Given the description of an element on the screen output the (x, y) to click on. 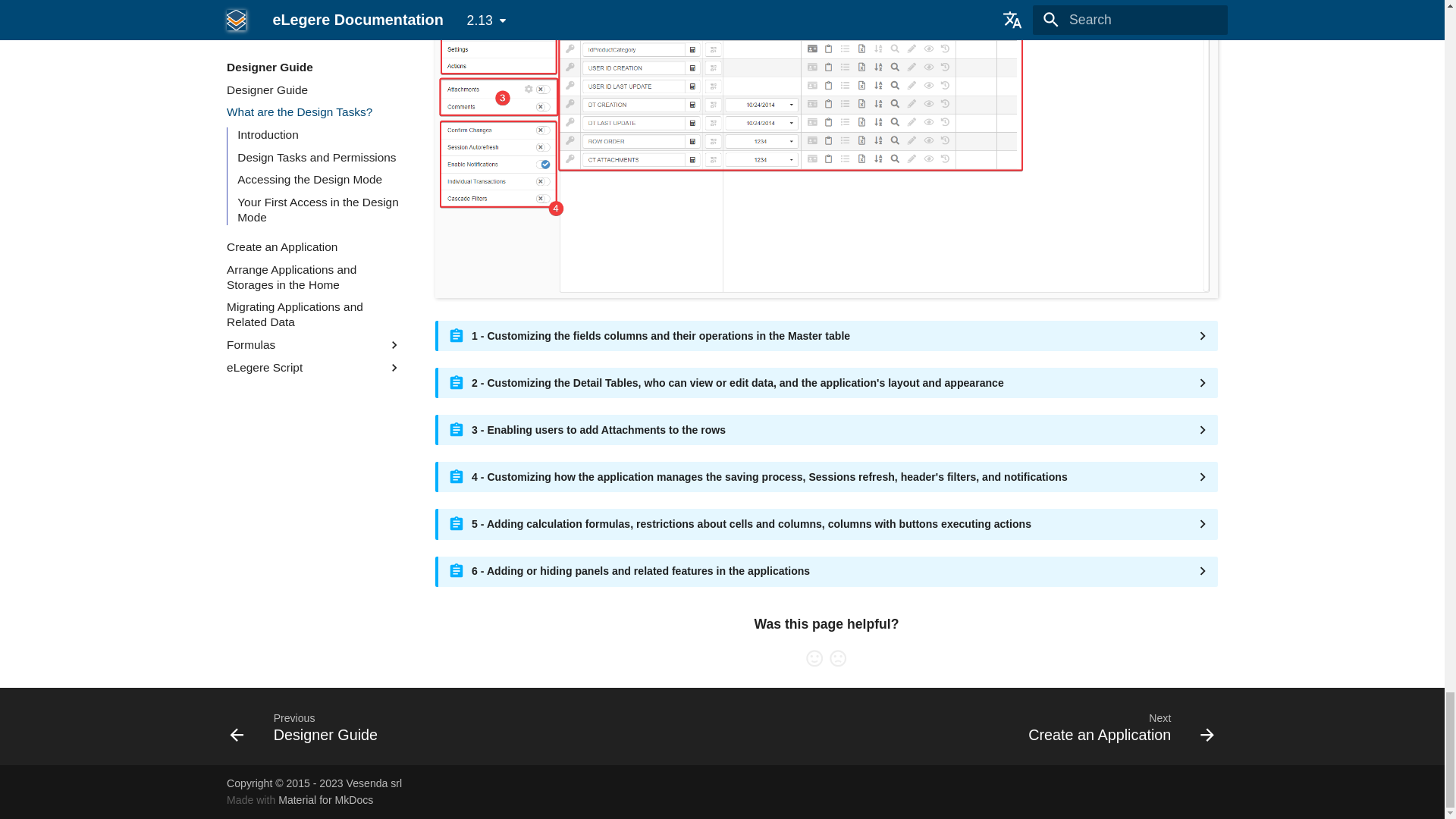
This page could be improved (837, 658)
This page was helpful (814, 658)
